Given the description of an element on the screen output the (x, y) to click on. 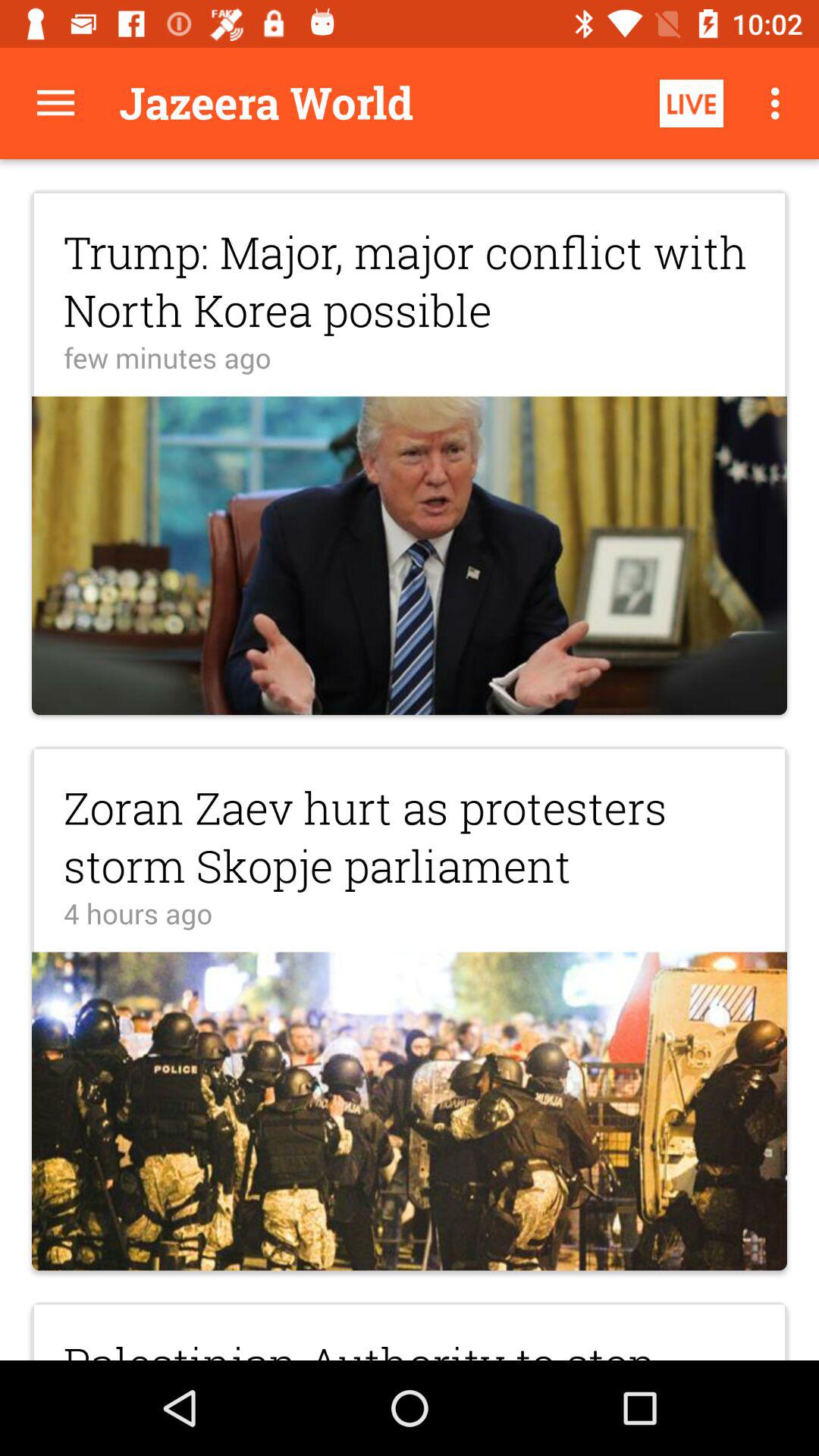
tap the menu button for more options (55, 103)
